Given the description of an element on the screen output the (x, y) to click on. 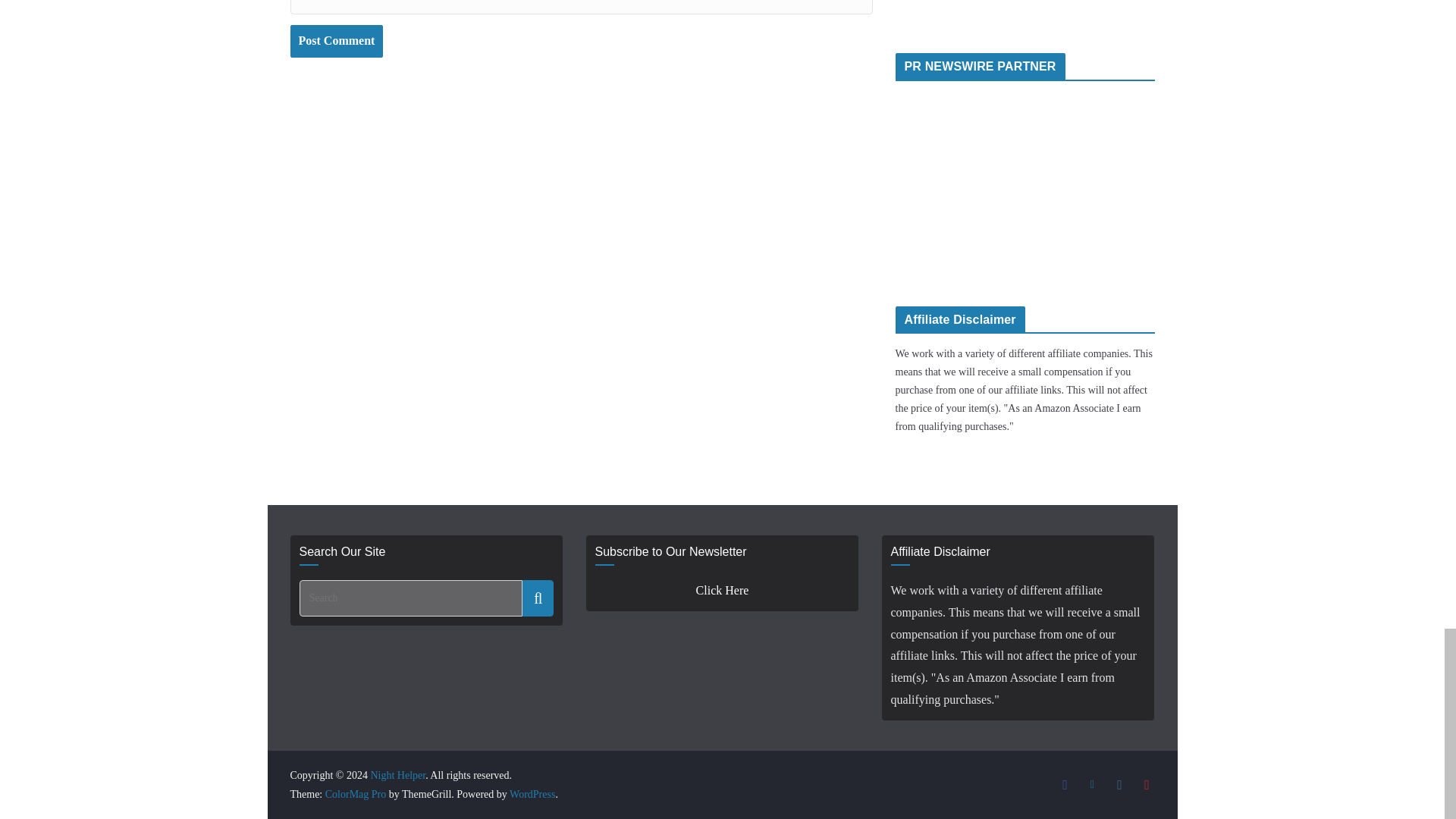
Post Comment (335, 41)
